Given the description of an element on the screen output the (x, y) to click on. 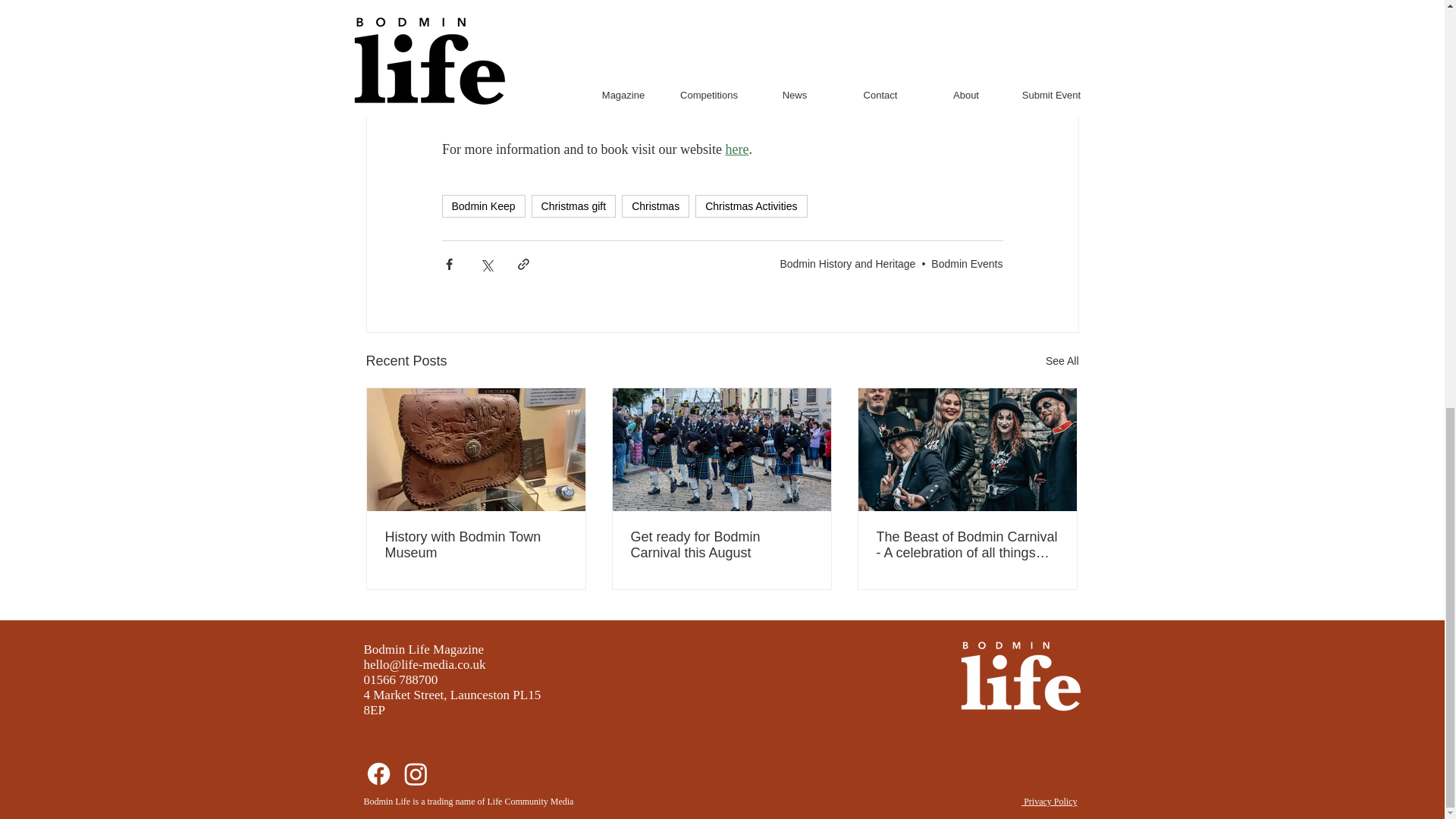
Christmas (654, 205)
Nutcrack Toy Soldiers (656, 26)
History with Bodmin Town Museum (476, 545)
Get ready for Bodmin Carnival this August (721, 545)
Bodmin Keep (482, 205)
See All (1061, 361)
Bodmin Events (967, 263)
Paper Gift Tag Making (648, 46)
Bodmin History and Heritage (846, 263)
Wreath Making (619, 6)
